Given the description of an element on the screen output the (x, y) to click on. 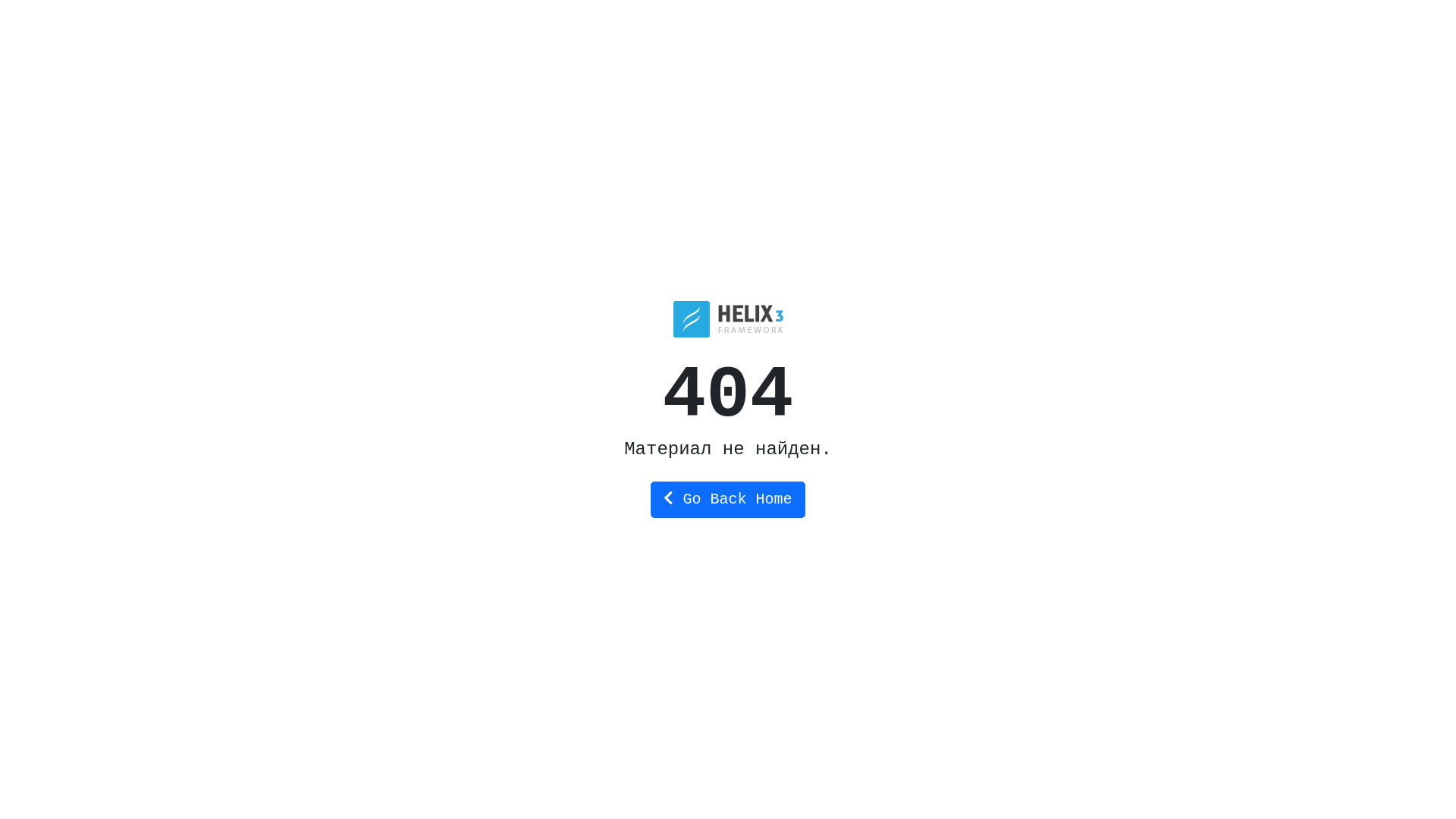
Go Back Home Element type: text (727, 499)
